Given the description of an element on the screen output the (x, y) to click on. 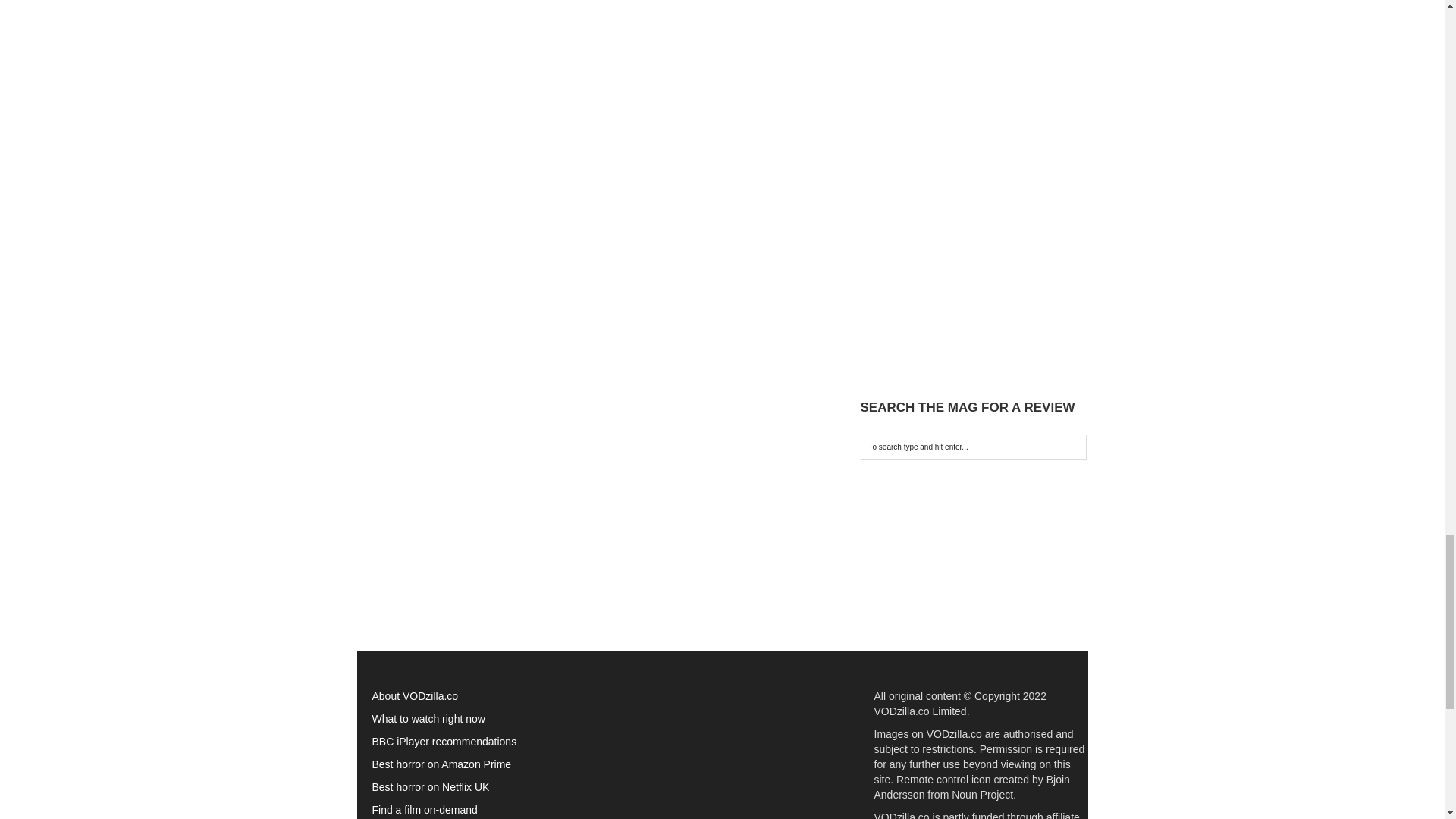
To search type and hit enter... (973, 446)
